Given the description of an element on the screen output the (x, y) to click on. 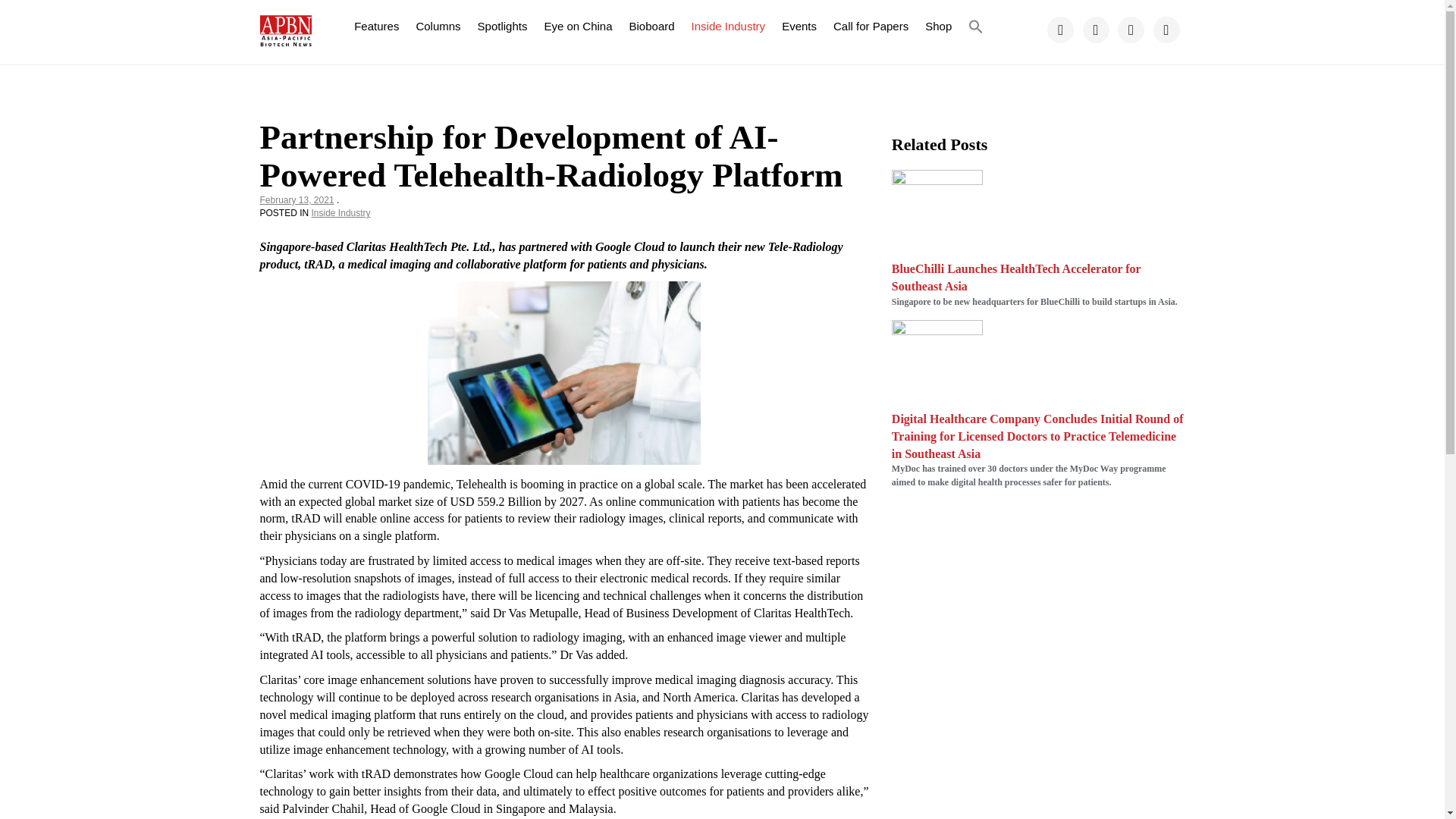
Inside Industry (341, 213)
February 13, 2021 (296, 199)
Columns (437, 26)
Events (799, 26)
Bioboard (651, 26)
Shop (938, 26)
Eye on China (577, 26)
Bioboard (651, 26)
Columns (437, 26)
Spotlights (501, 26)
Call for Papers (871, 26)
Features (376, 26)
Events (799, 26)
Spotlights (501, 26)
Shop (938, 26)
